Given the description of an element on the screen output the (x, y) to click on. 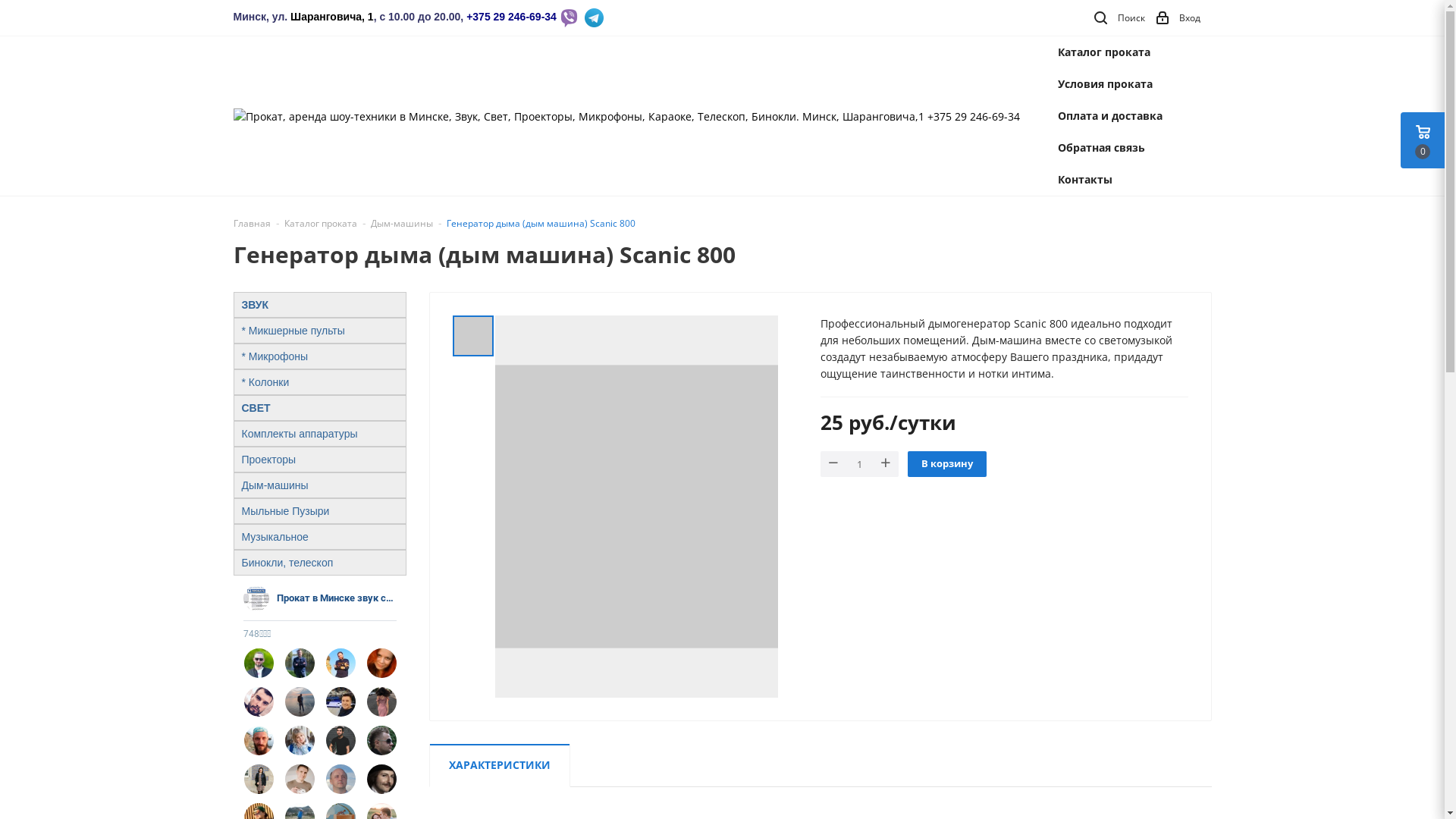
+375 29 246-69-34 Element type: text (511, 16)
